Given the description of an element on the screen output the (x, y) to click on. 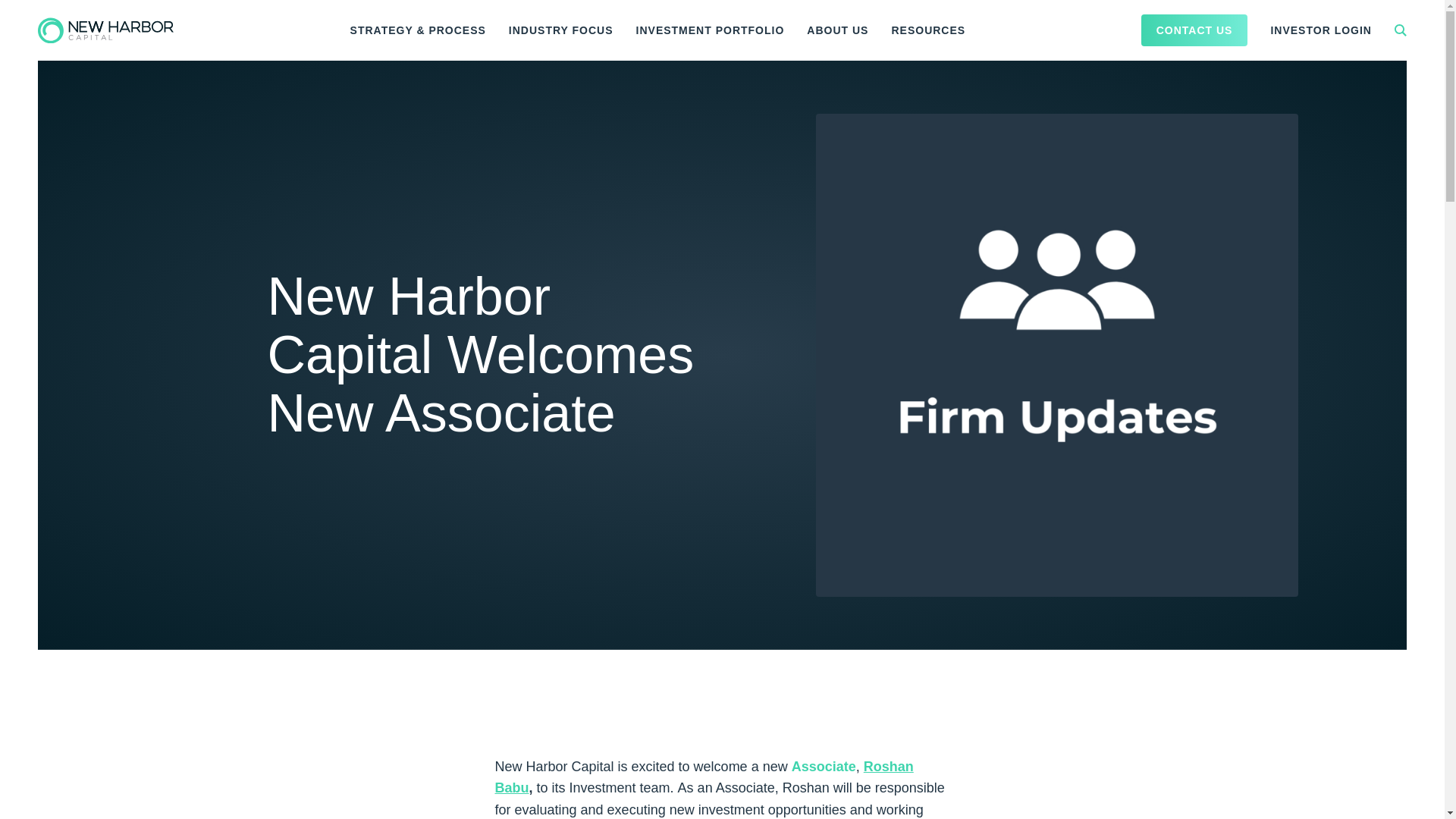
ABOUT US (836, 30)
INVESTOR LOGIN (1321, 30)
CONTACT US (1194, 29)
INVESTMENT PORTFOLIO (710, 30)
RESOURCES (927, 30)
INDUSTRY FOCUS (560, 30)
